Given the description of an element on the screen output the (x, y) to click on. 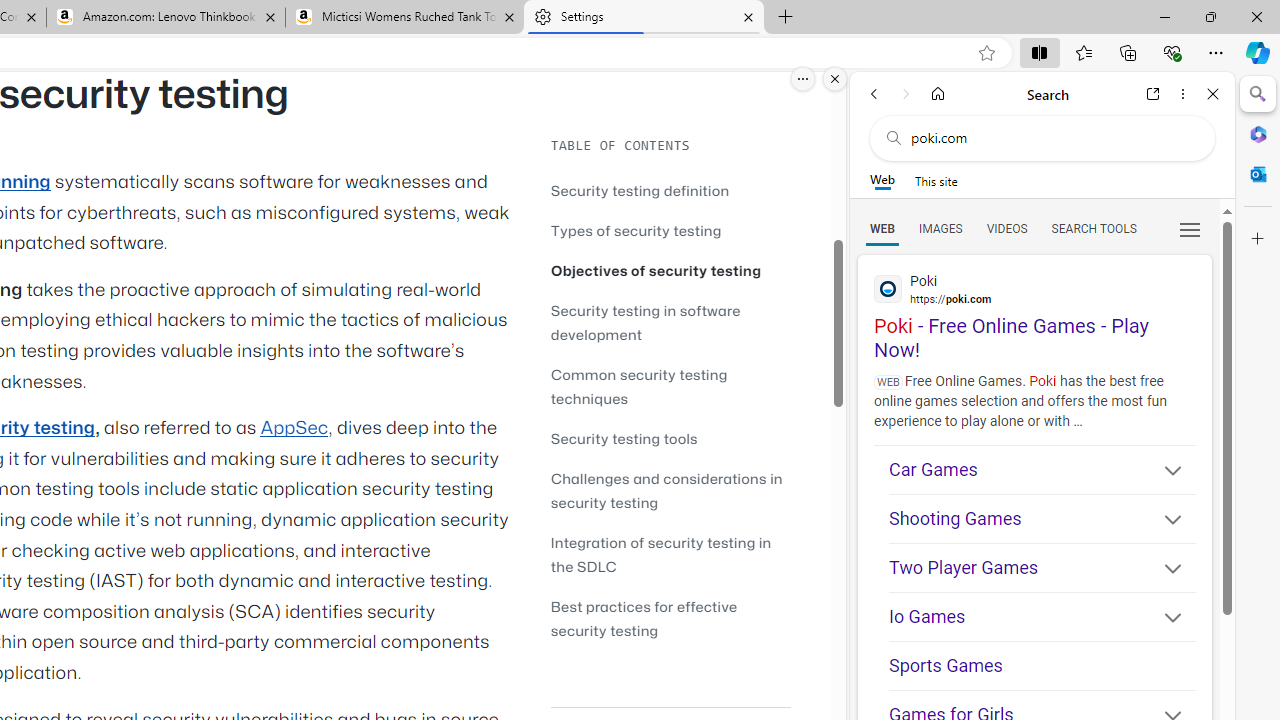
Challenges and considerations in security testing (666, 490)
Search Filter, VIDEOS (1006, 228)
Search the web (1051, 137)
Search Filter, Search Tools (1093, 228)
Show More Car Games (1164, 472)
IMAGES (939, 228)
Security testing in software development (670, 322)
Search Filter, WEB (882, 228)
Security testing definition (670, 190)
Preferences (1189, 228)
